Given the description of an element on the screen output the (x, y) to click on. 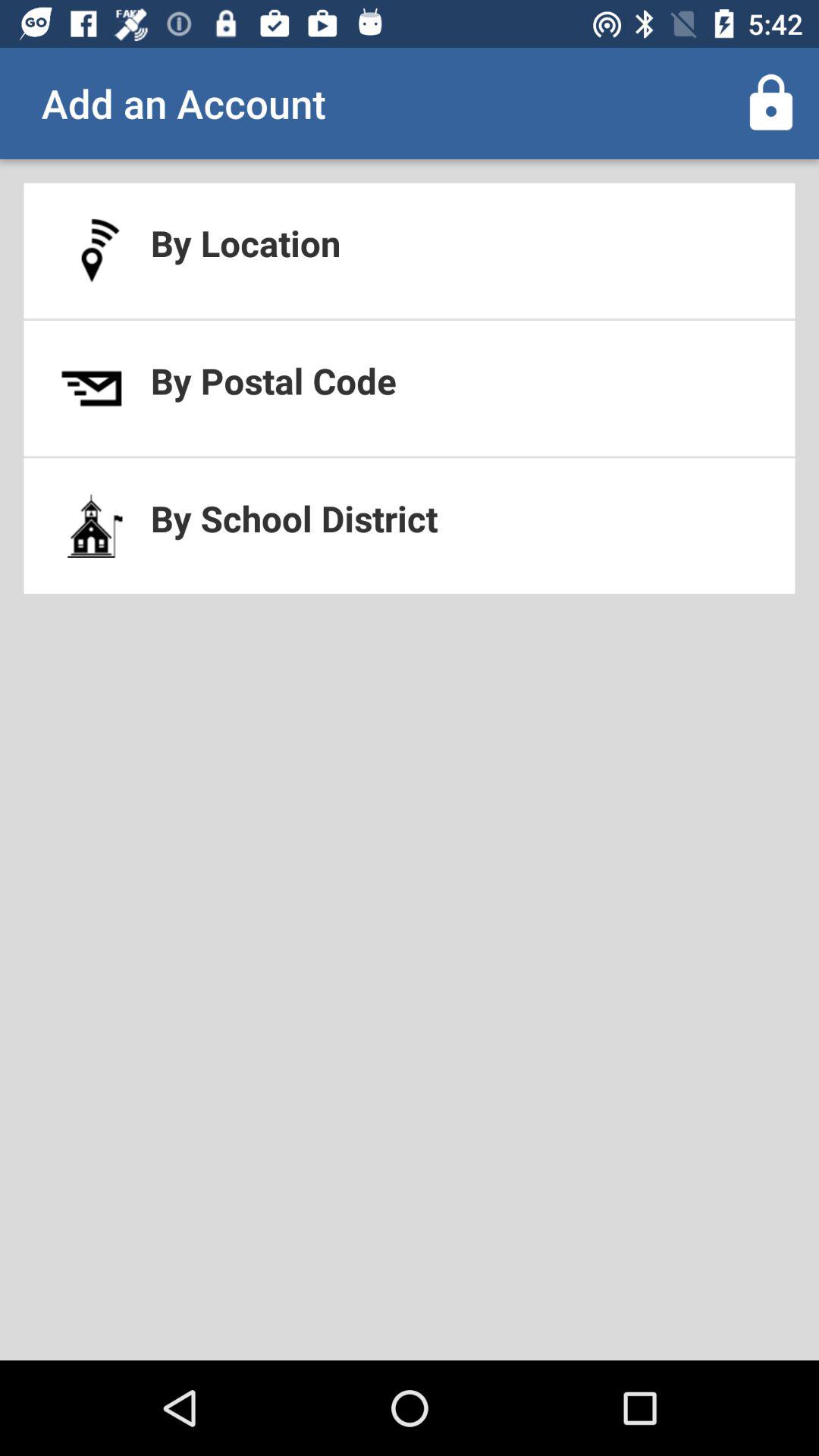
choose item above    by postal code icon (409, 250)
